Given the description of an element on the screen output the (x, y) to click on. 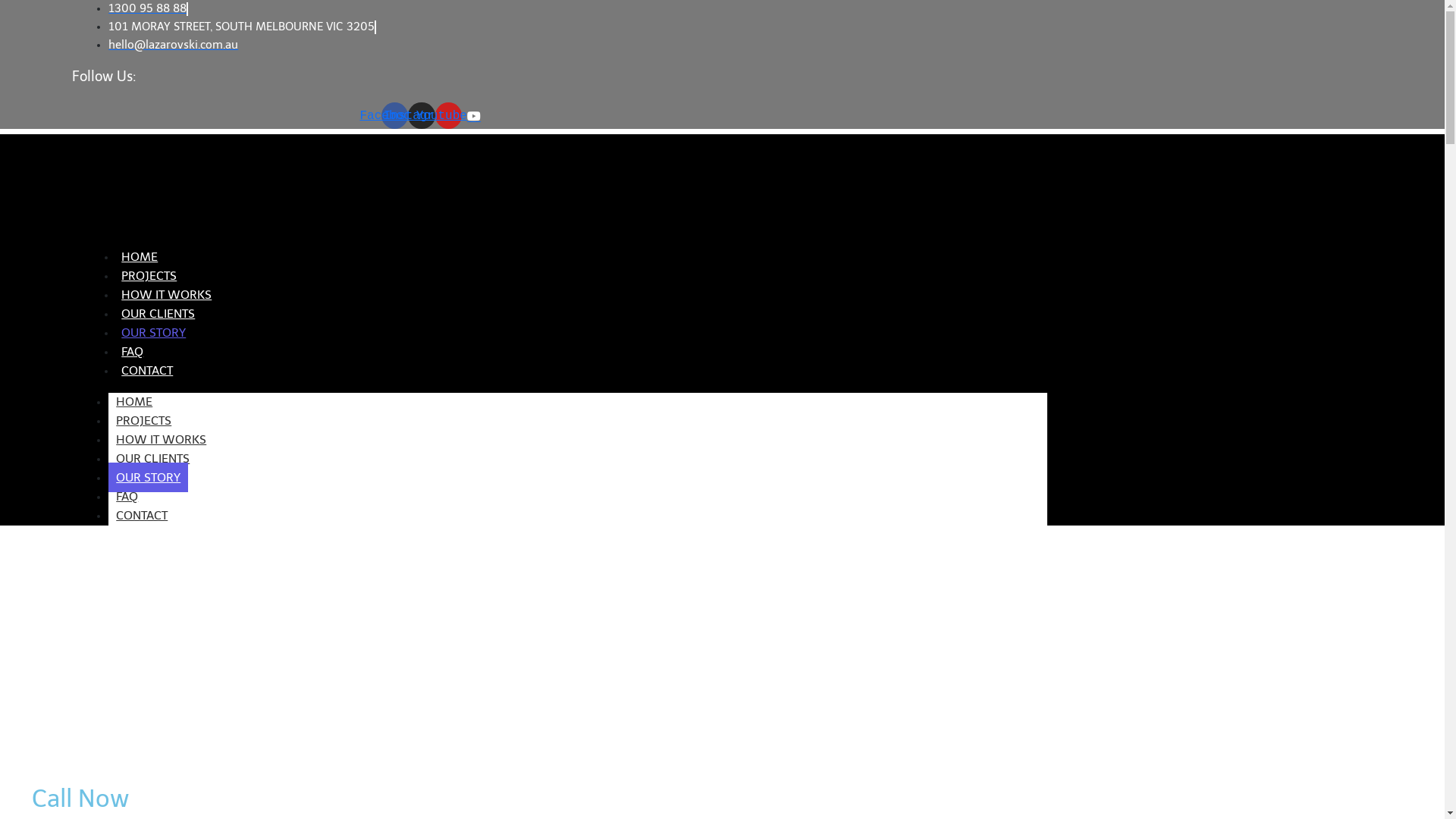
HOW IT WORKS Element type: text (160, 439)
OUR STORY Element type: text (153, 332)
Facebook Element type: text (394, 115)
Youtube Element type: text (448, 115)
OUR STORY Element type: text (148, 477)
OUR CLIENTS Element type: text (158, 313)
CONTACT Element type: text (147, 370)
FAQ Element type: text (126, 496)
HOME Element type: text (134, 401)
Instagram Element type: text (420, 115)
HOME Element type: text (139, 256)
PROJECTS Element type: text (143, 420)
PROJECTS Element type: text (149, 275)
OUR CLIENTS Element type: text (152, 458)
hello@lazarovski.com.au Element type: text (173, 44)
1300 95 88 88 Element type: text (147, 8)
CONTACT Element type: text (141, 515)
FAQ Element type: text (132, 351)
HOW IT WORKS Element type: text (166, 294)
